Given the description of an element on the screen output the (x, y) to click on. 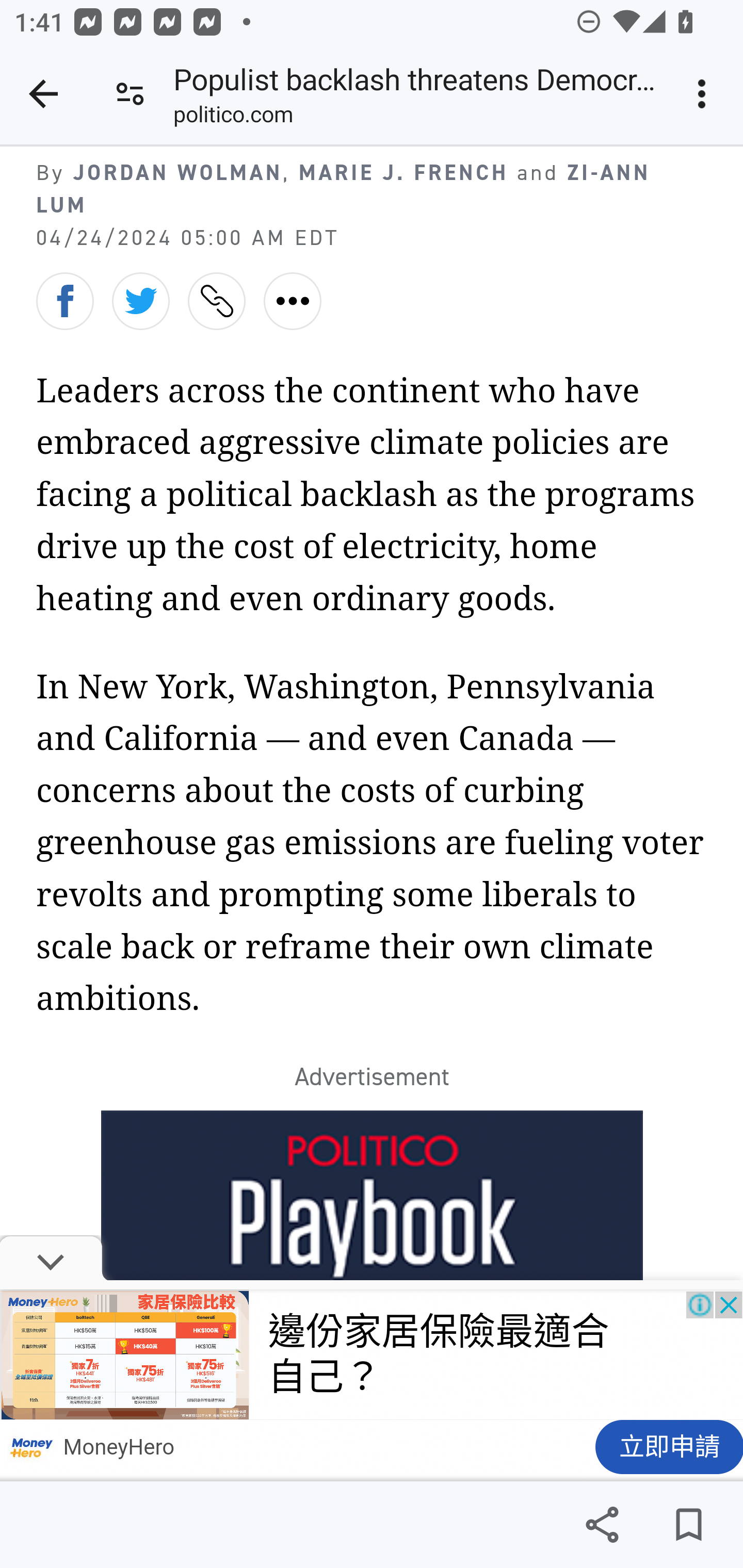
Close tab (43, 93)
Customize and control Google Chrome (705, 93)
Connection is secure (129, 93)
politico.com (232, 117)
ZI-ANN LUM (343, 188)
JORDAN WOLMAN (177, 172)
MARIE J. FRENCH (402, 172)
Share (601, 1524)
Save for later (688, 1524)
